Given the description of an element on the screen output the (x, y) to click on. 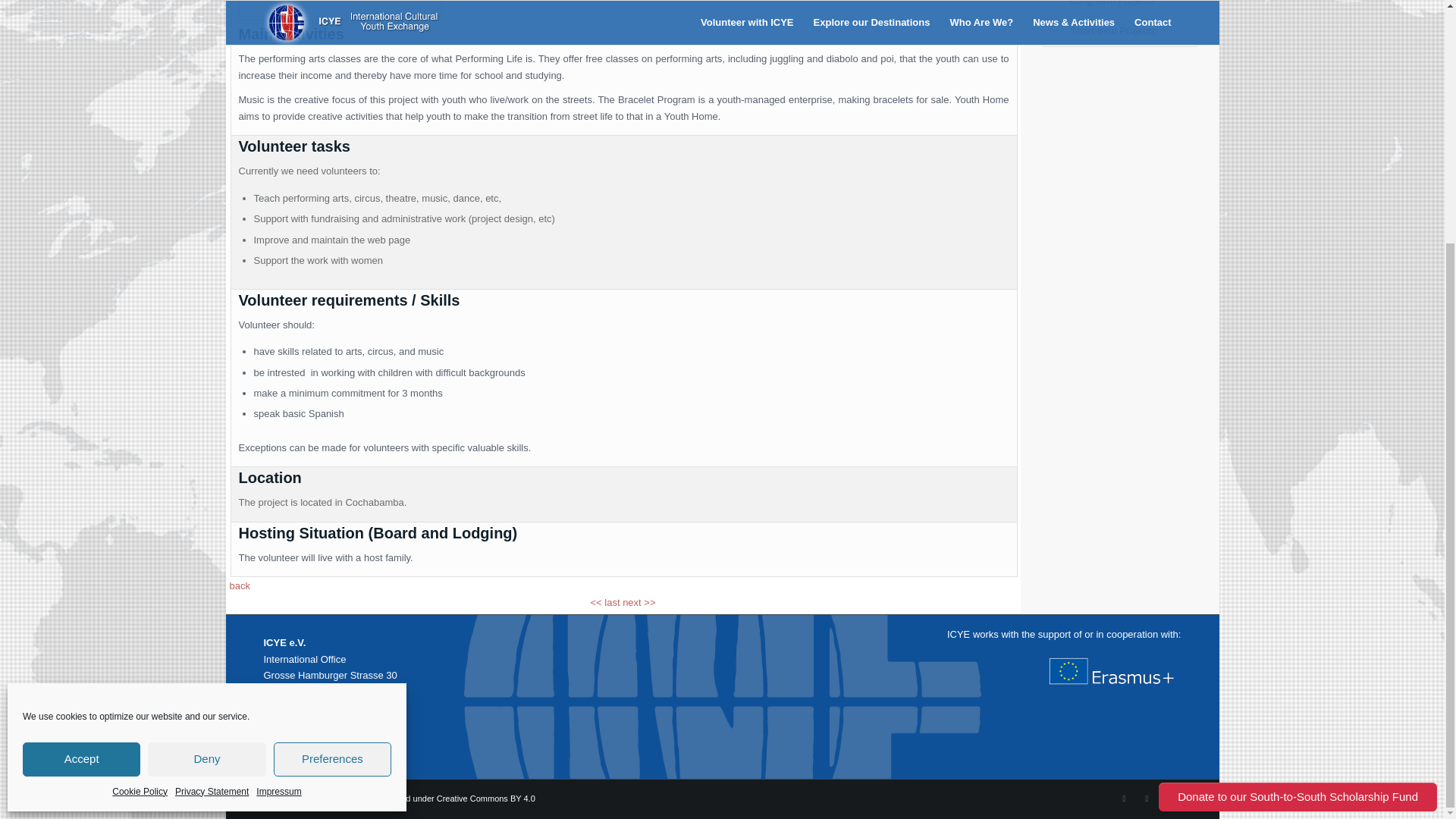
Deny (206, 421)
Donate (279, 748)
Impressum (278, 454)
Preferences (332, 421)
Privacy Statement (211, 454)
Accept (81, 421)
Cookie Policy (139, 454)
Impressum (288, 715)
Data Privacy (291, 732)
back (238, 585)
